Given the description of an element on the screen output the (x, y) to click on. 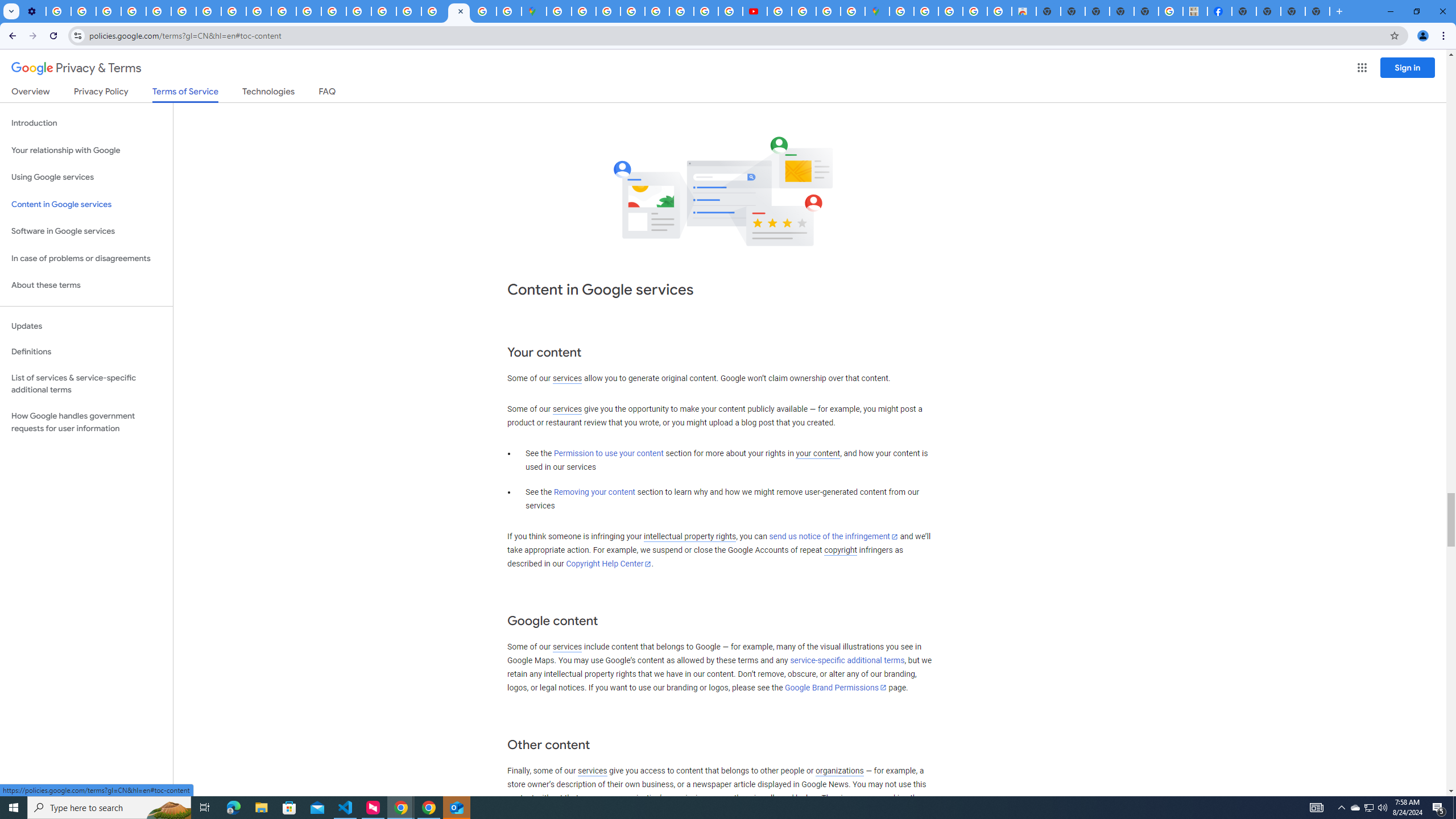
How Google handles government requests for user information (86, 422)
Sign in - Google Accounts (900, 11)
Privacy Checkup (283, 11)
